Given the description of an element on the screen output the (x, y) to click on. 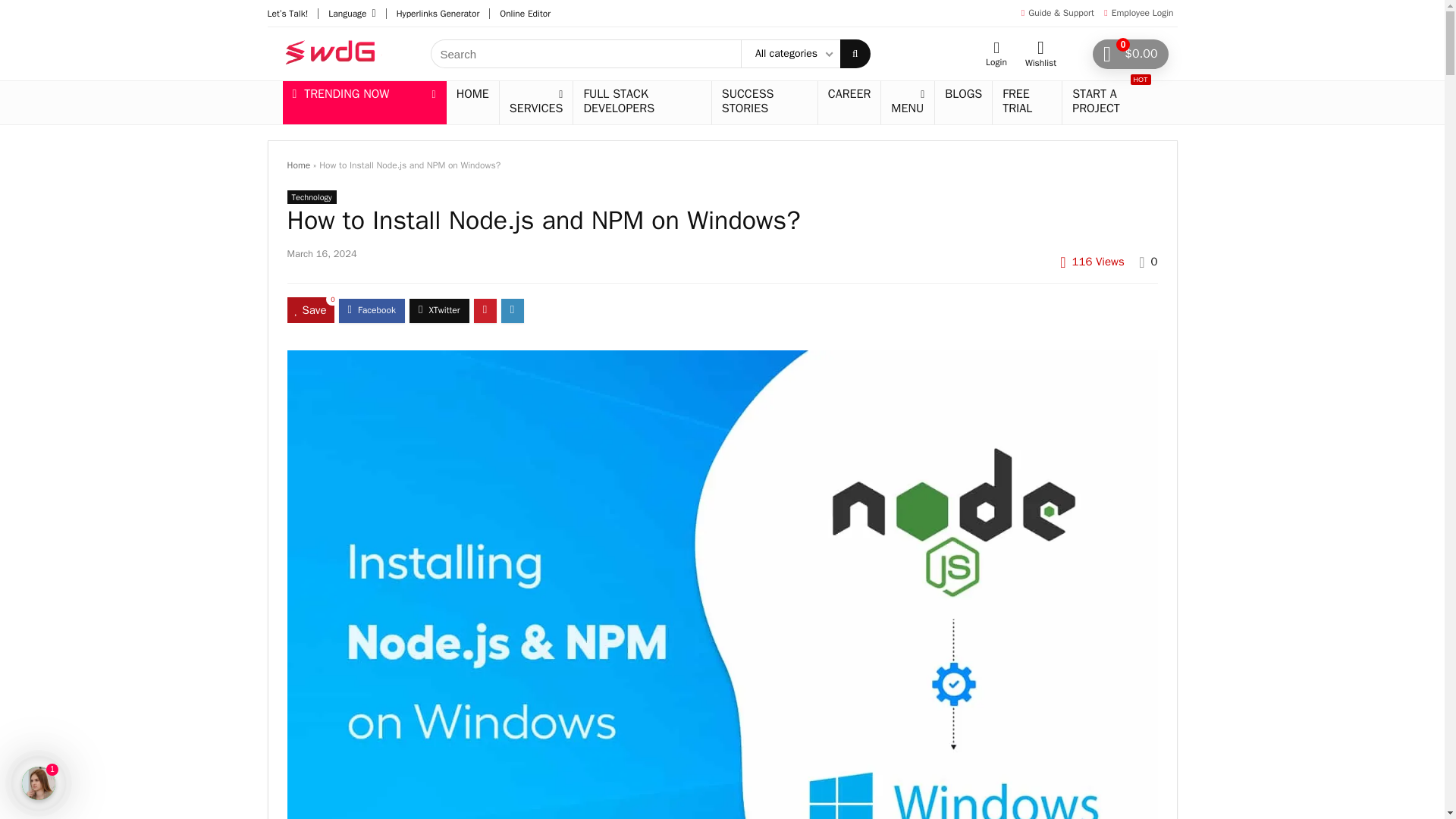
SERVICES (536, 102)
Language (347, 13)
View all posts in Technology (311, 196)
TRENDING NOW (363, 95)
Hyperlinks Generator (438, 13)
Online Editor (524, 13)
Employee Login (1142, 12)
HOME (472, 95)
